Given the description of an element on the screen output the (x, y) to click on. 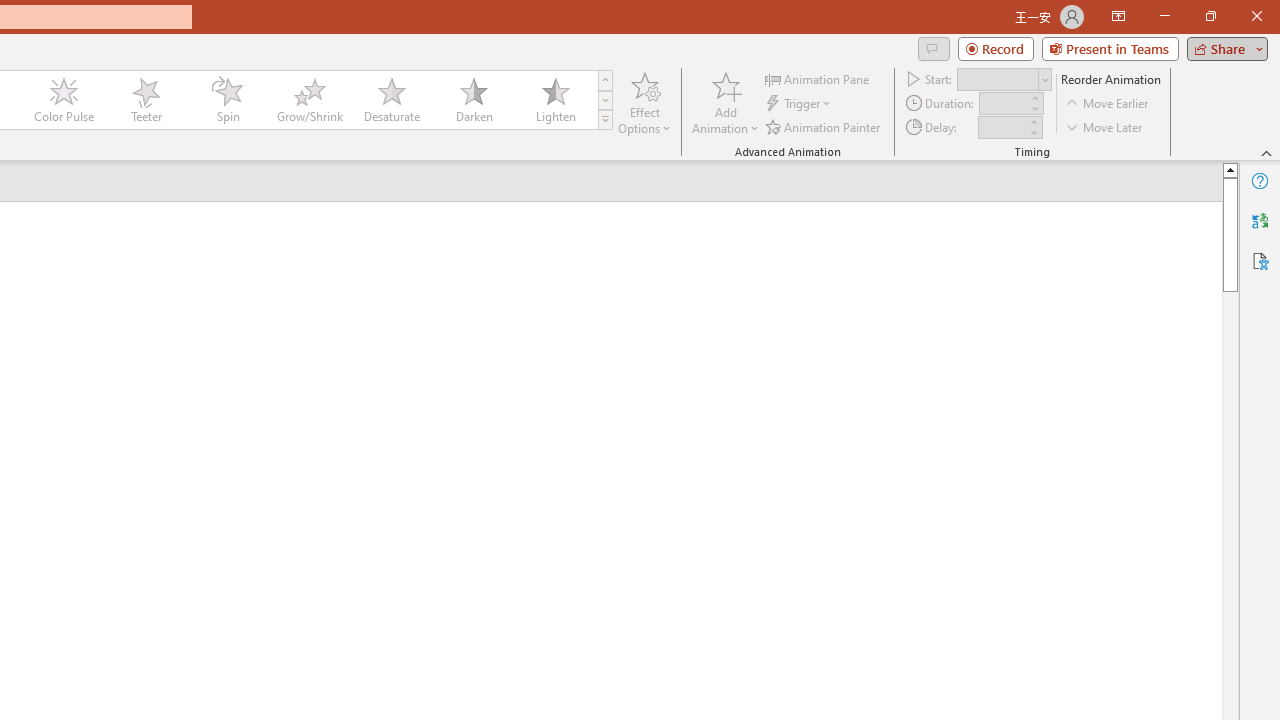
Desaturate (391, 100)
Class: NetUIImage (605, 119)
Animation Delay (1002, 127)
Animation Painter (824, 126)
Move Earlier (1107, 103)
Animation Styles (605, 120)
Row Down (605, 100)
Translator (1260, 220)
Open (1044, 79)
Less (1033, 132)
